Given the description of an element on the screen output the (x, y) to click on. 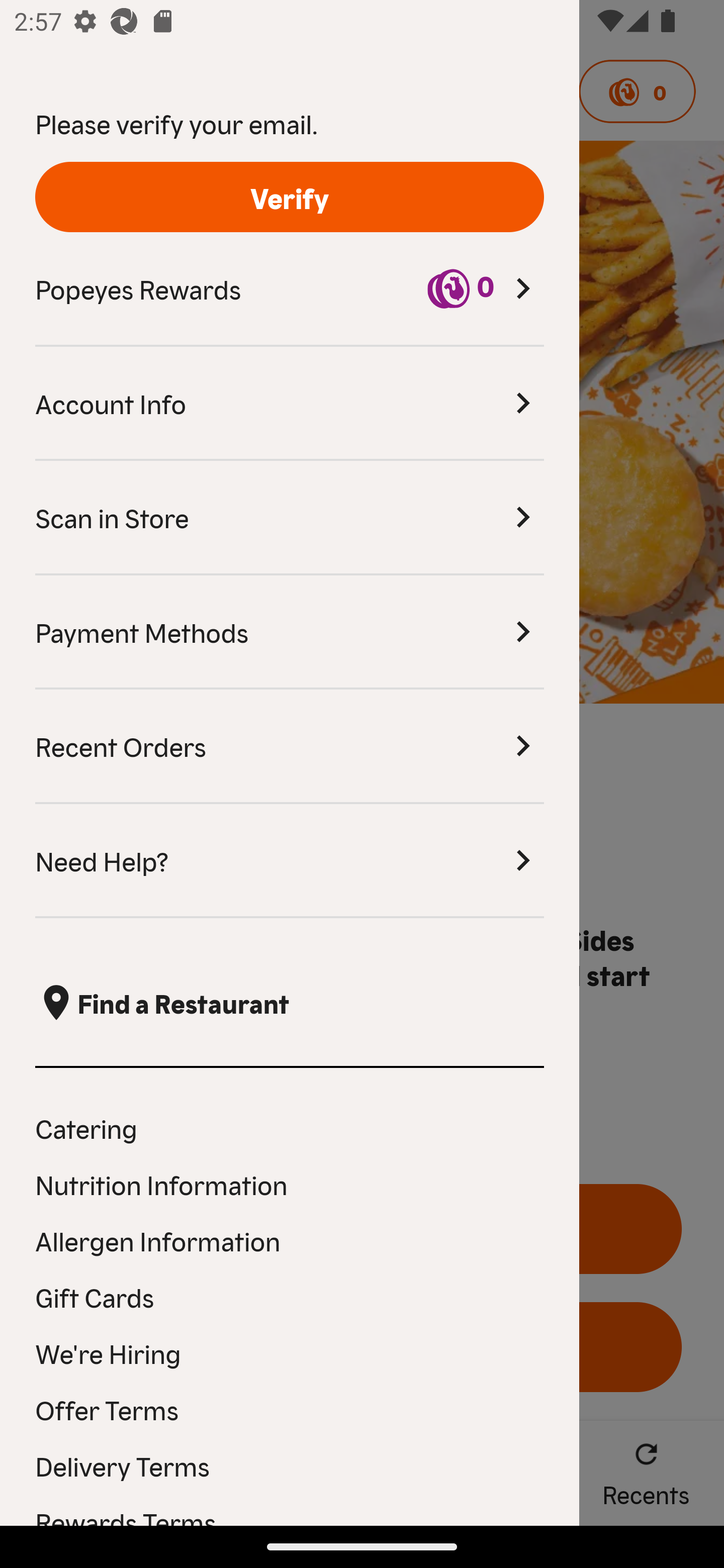
Verify (289, 196)
Account Info Account Info  (289, 403)
Scan in Store Scan in Store  (289, 517)
Payment Methods Payment Methods  (289, 632)
Recent Orders Recent Orders  (289, 746)
Need Help? Need Help?  (289, 861)
, Find a Restaurant  Find a Restaurant (289, 1002)
Catering (289, 1127)
Nutrition Information (289, 1183)
Allergen Information (289, 1240)
Gift Cards (289, 1296)
We're Hiring (289, 1352)
Offer Terms (289, 1409)
Delivery Terms (289, 1465)
